Given the description of an element on the screen output the (x, y) to click on. 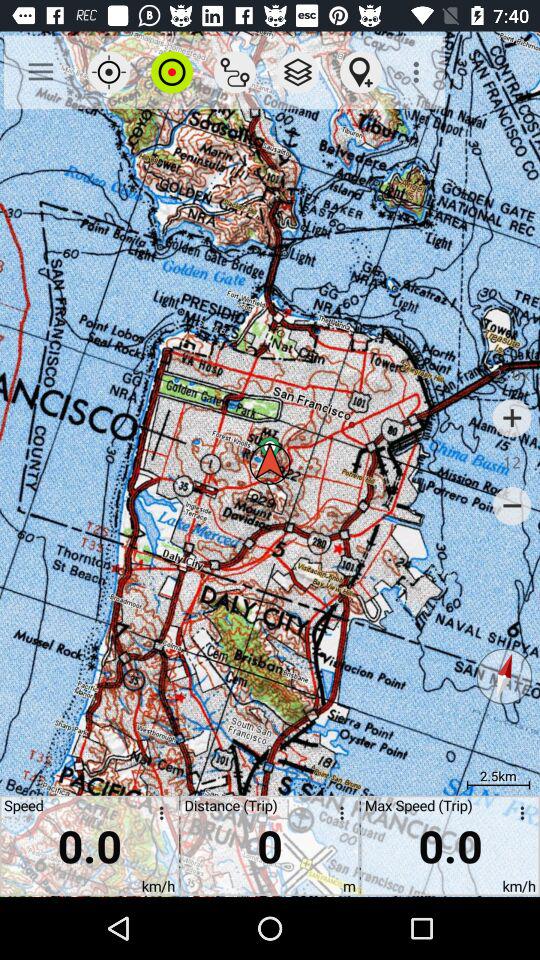
press the icon below 12 item (512, 505)
